Given the description of an element on the screen output the (x, y) to click on. 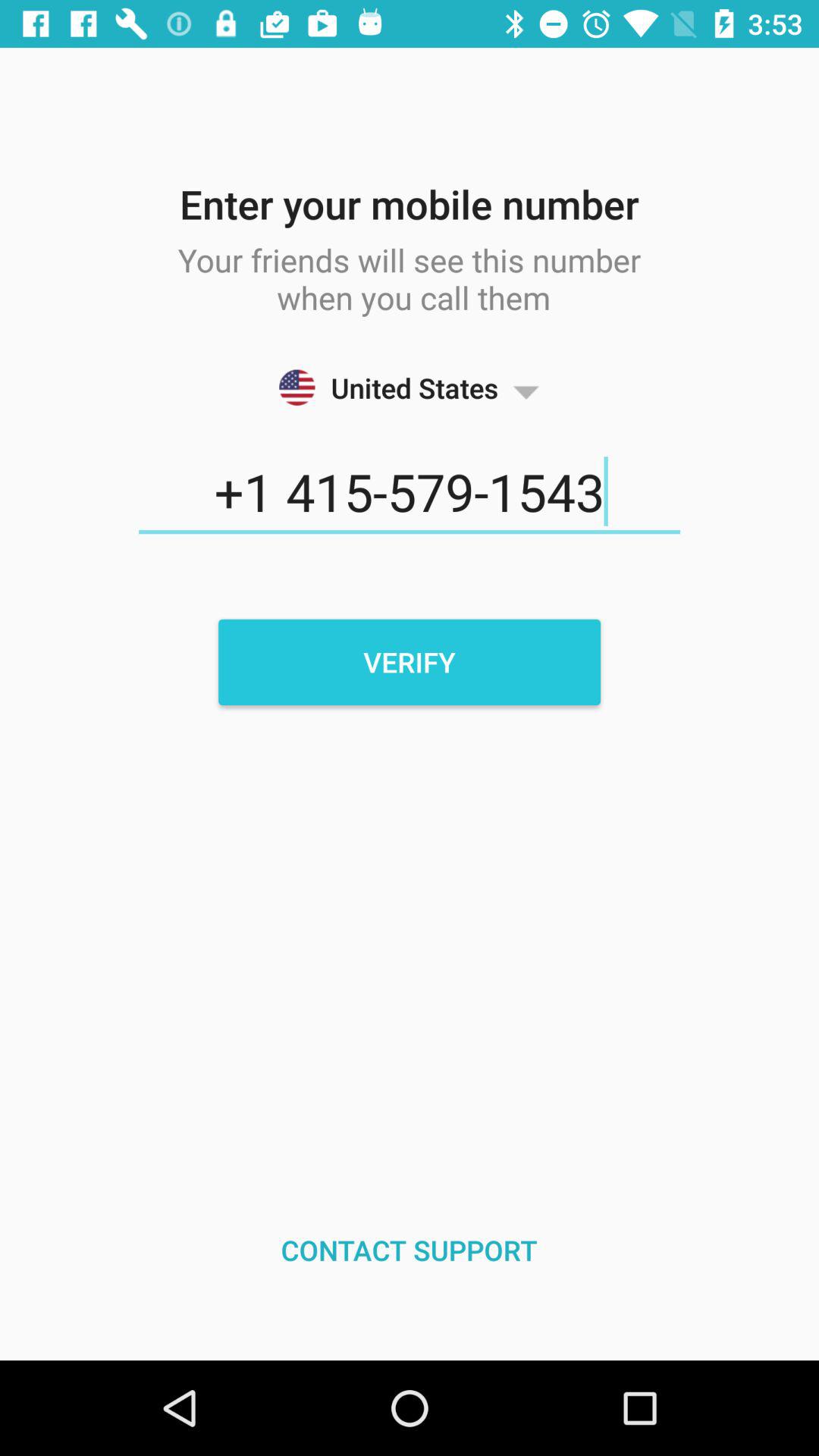
launch the icon below the verify icon (409, 1249)
